Given the description of an element on the screen output the (x, y) to click on. 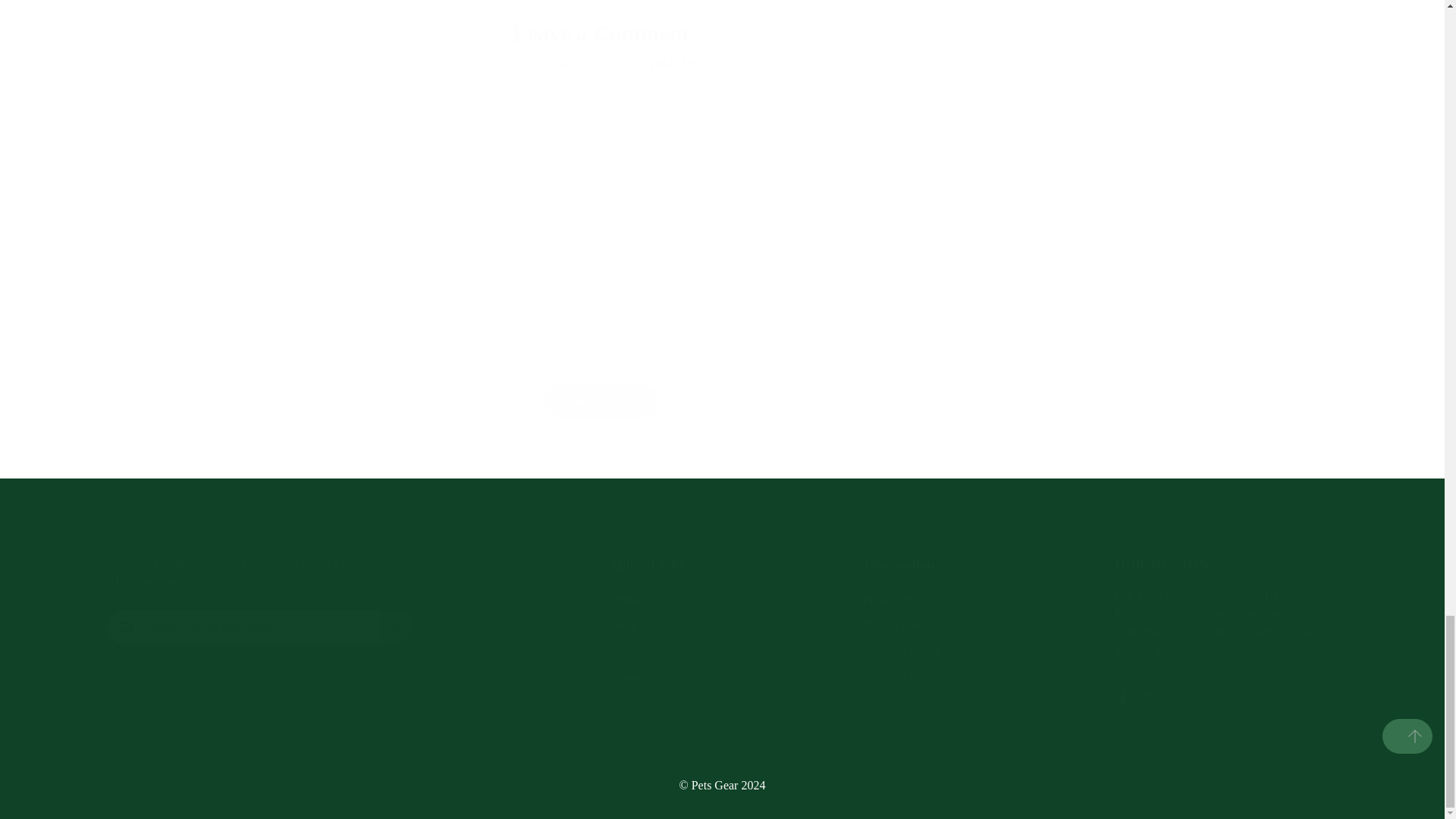
Submit Now (600, 400)
